Given the description of an element on the screen output the (x, y) to click on. 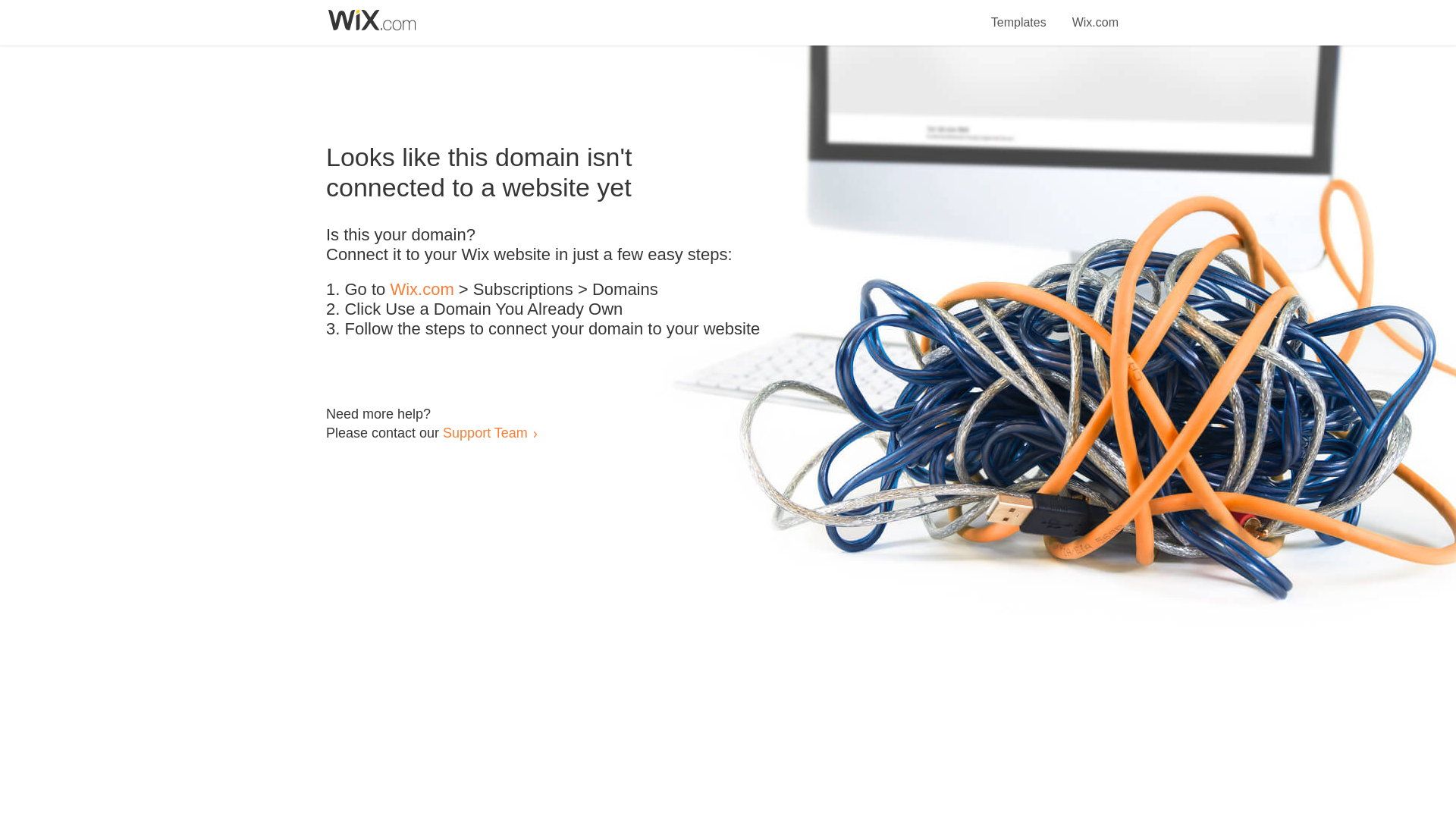
Support Team (484, 432)
Wix.com (1095, 14)
Wix.com (421, 289)
Templates (1018, 14)
